Given the description of an element on the screen output the (x, y) to click on. 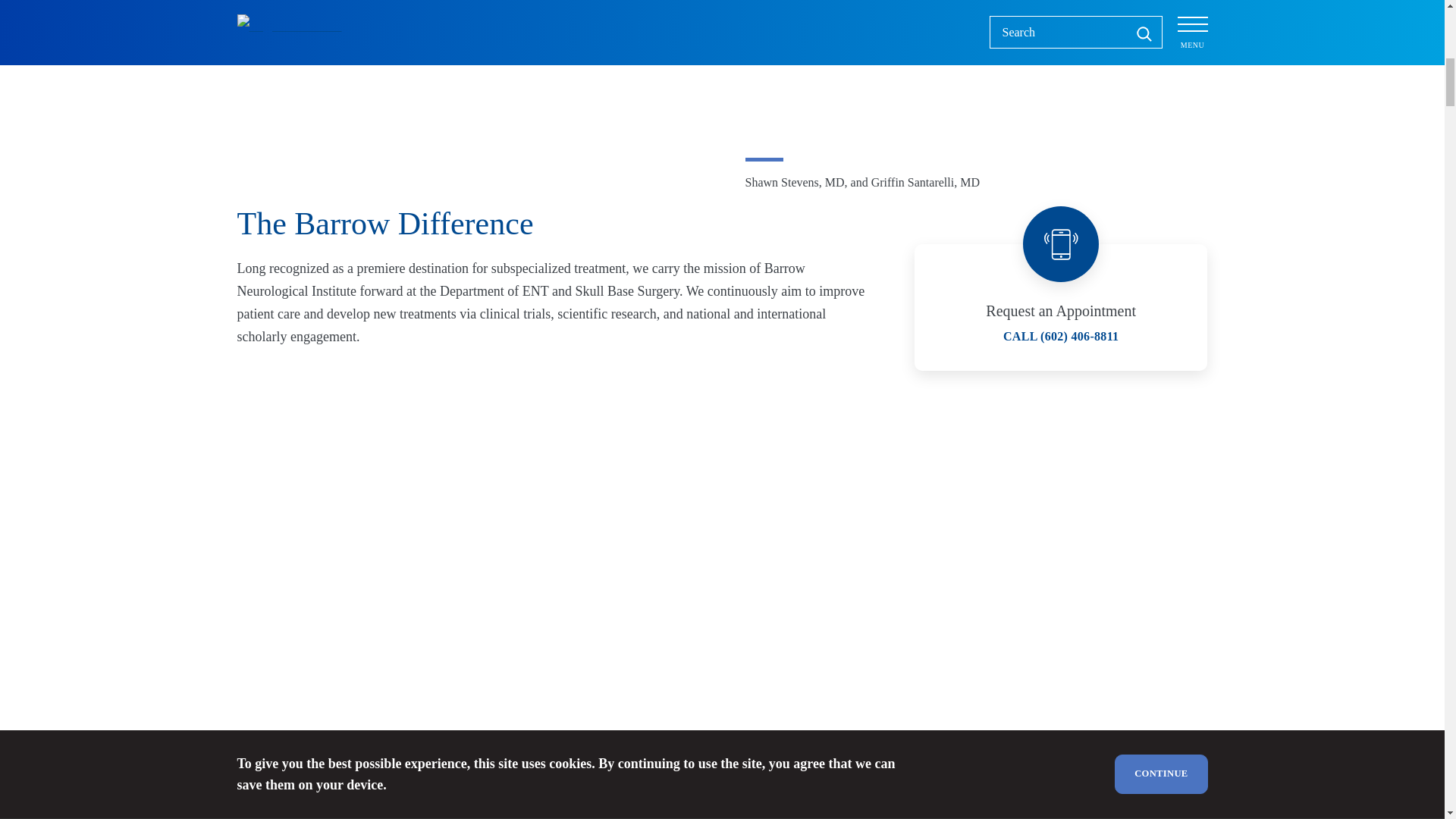
phone icon (1060, 244)
